Given the description of an element on the screen output the (x, y) to click on. 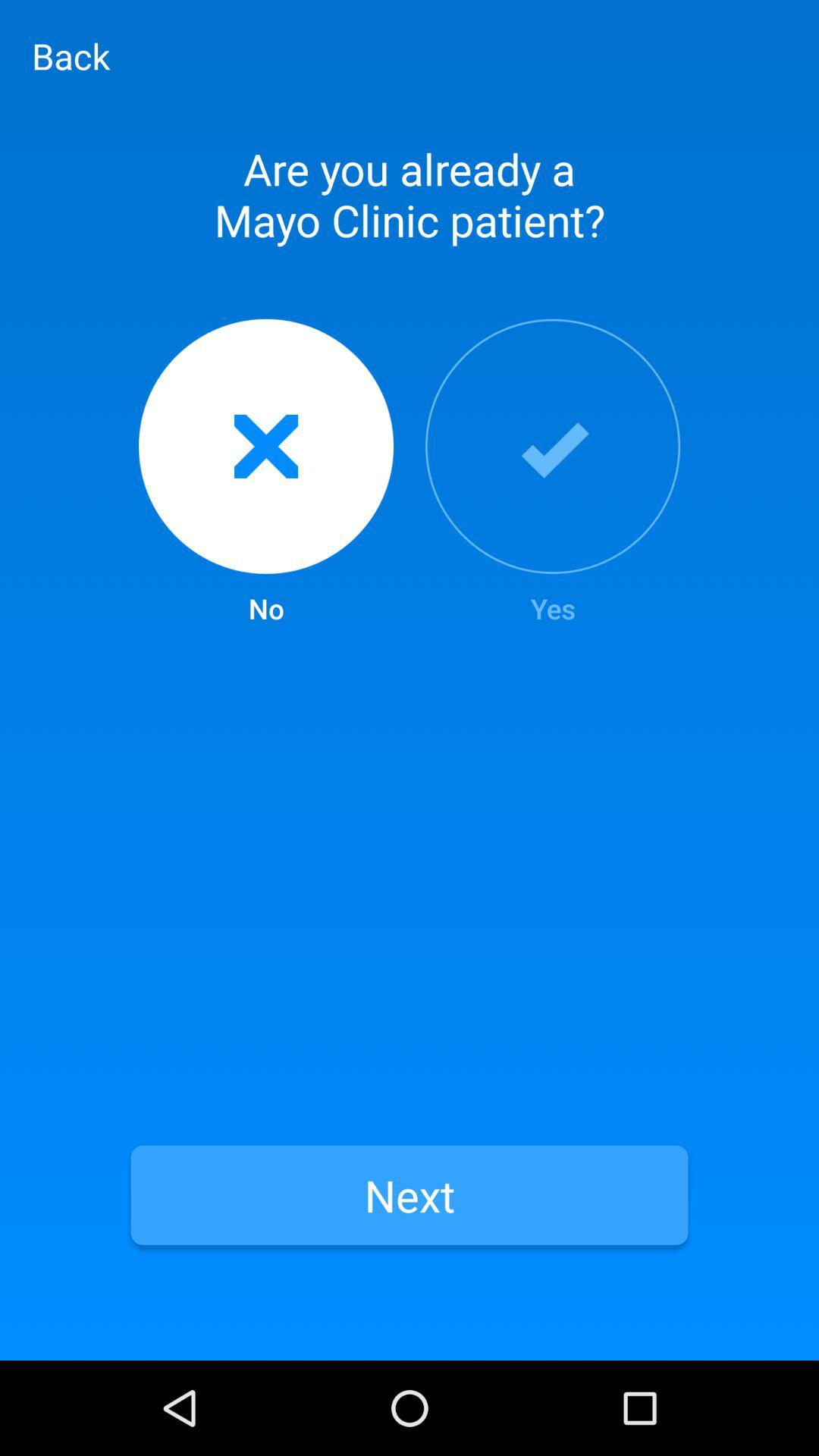
scroll until the yes icon (552, 473)
